Given the description of an element on the screen output the (x, y) to click on. 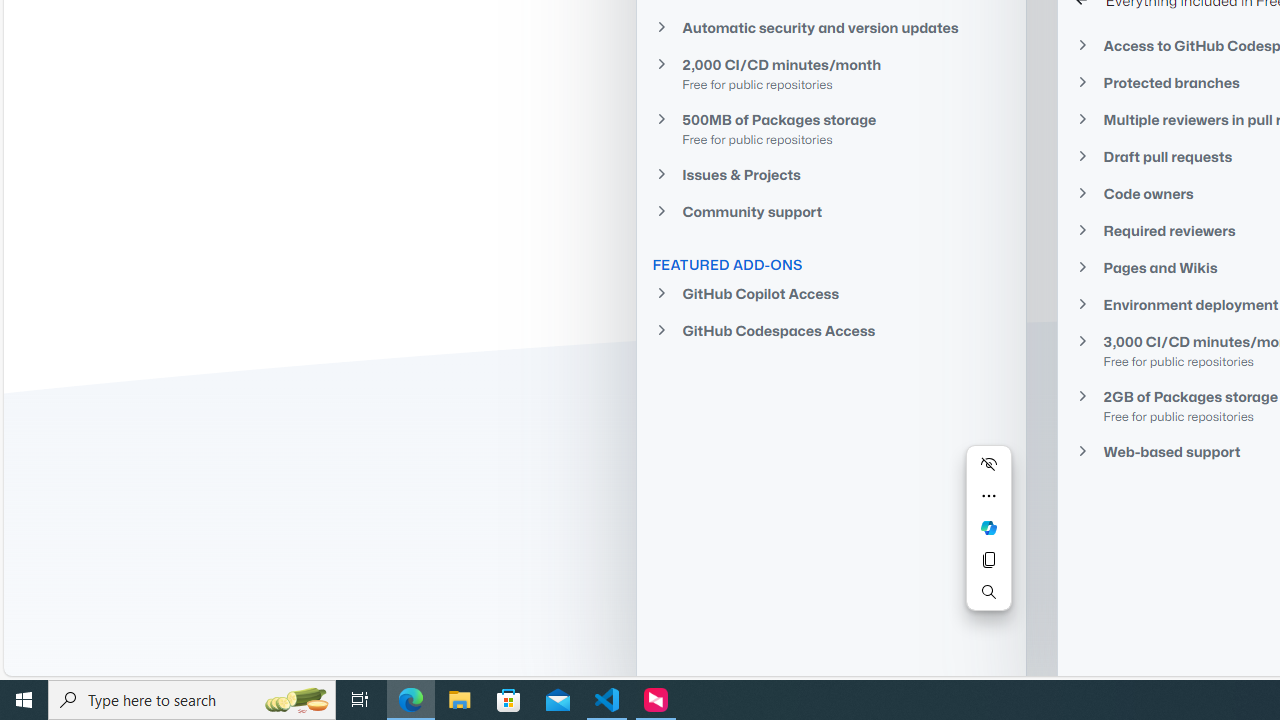
Community support (830, 211)
GitHub Copilot Access (830, 294)
Issues & Projects (830, 173)
Mini menu on text selection (988, 527)
500MB of Packages storageFree for public repositories (830, 128)
